Given the description of an element on the screen output the (x, y) to click on. 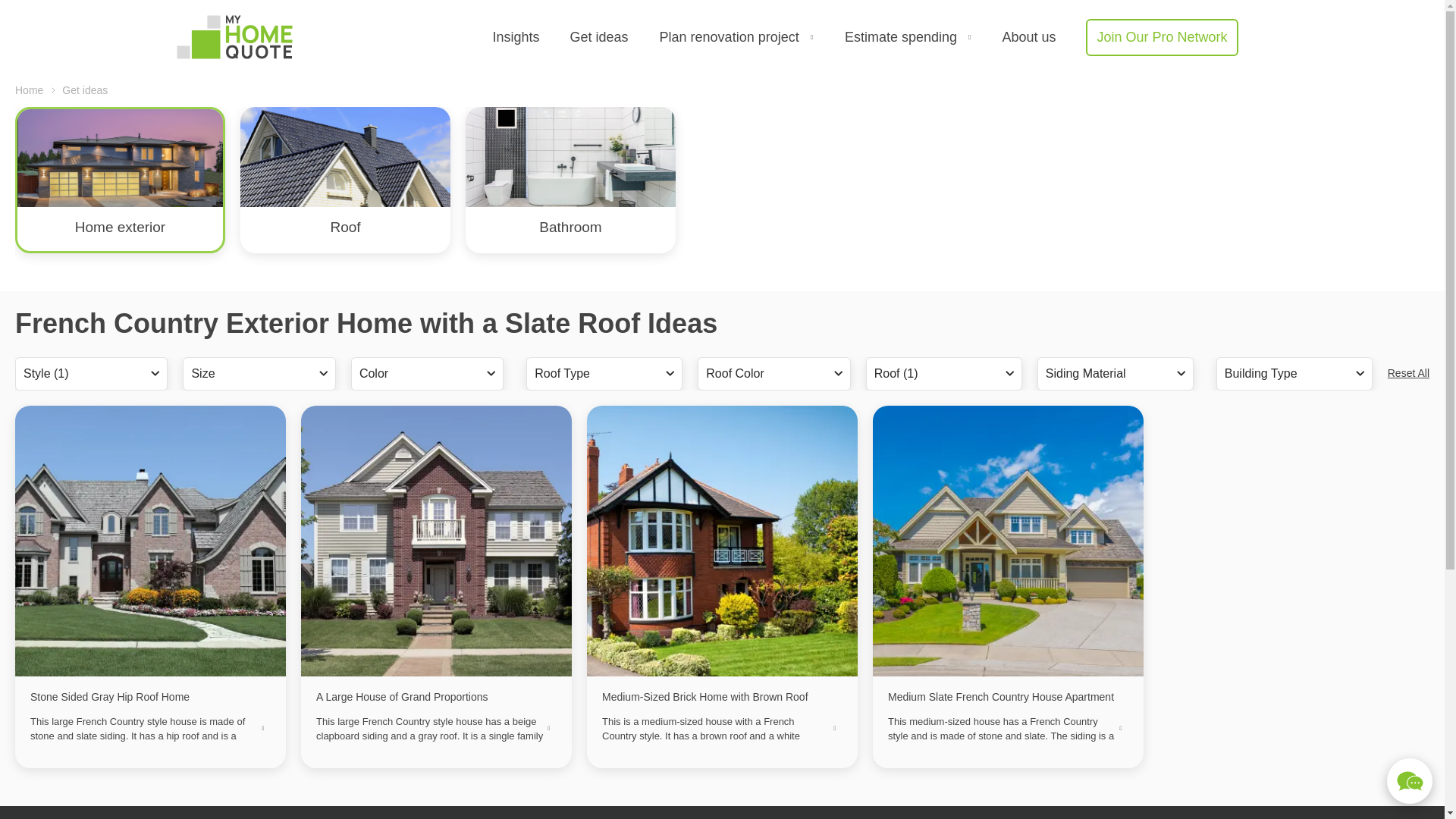
Get ideas (599, 36)
Insights (515, 36)
Plan renovation project (736, 37)
